Given the description of an element on the screen output the (x, y) to click on. 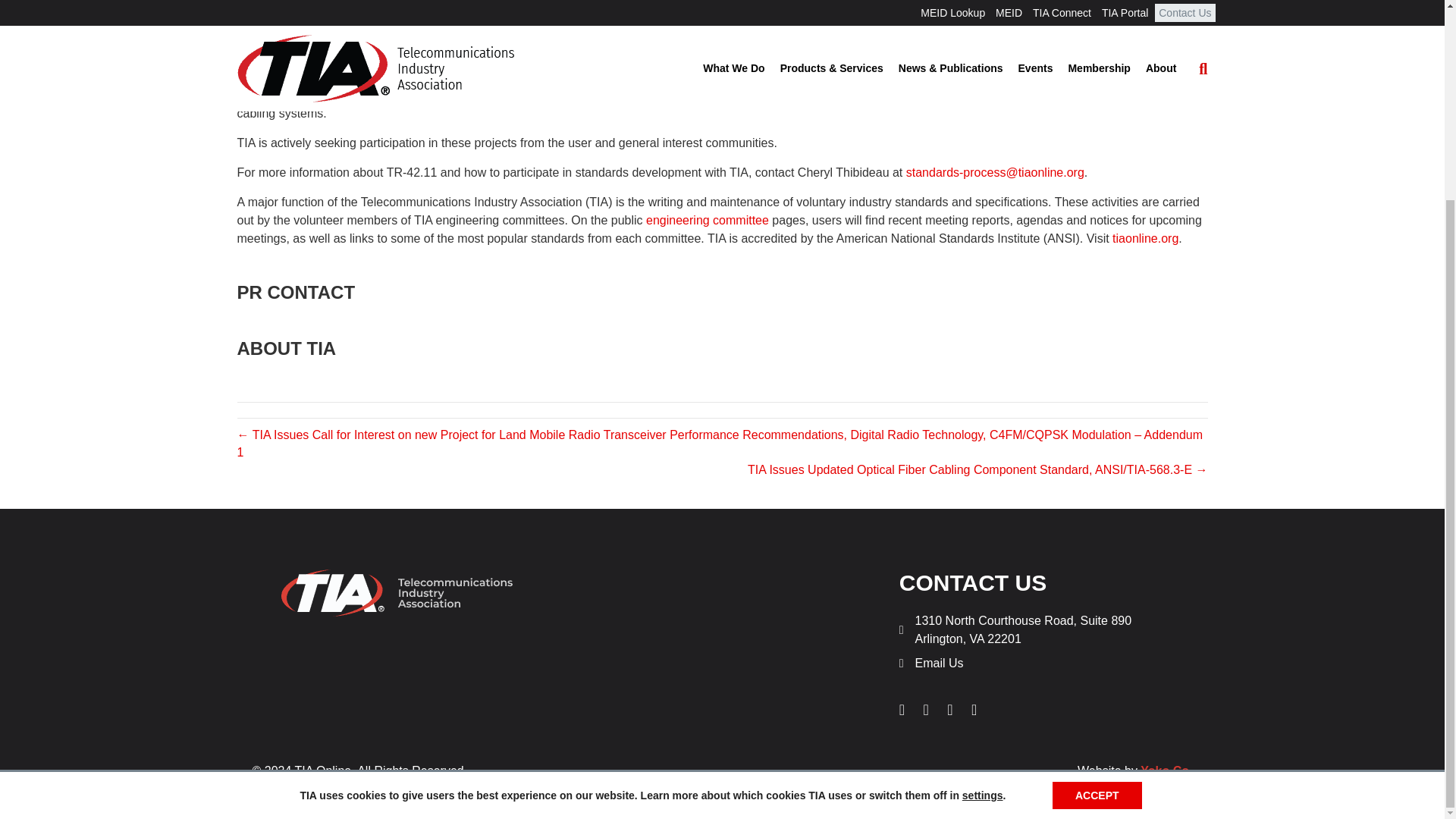
tia-logo--white (398, 592)
